Given the description of an element on the screen output the (x, y) to click on. 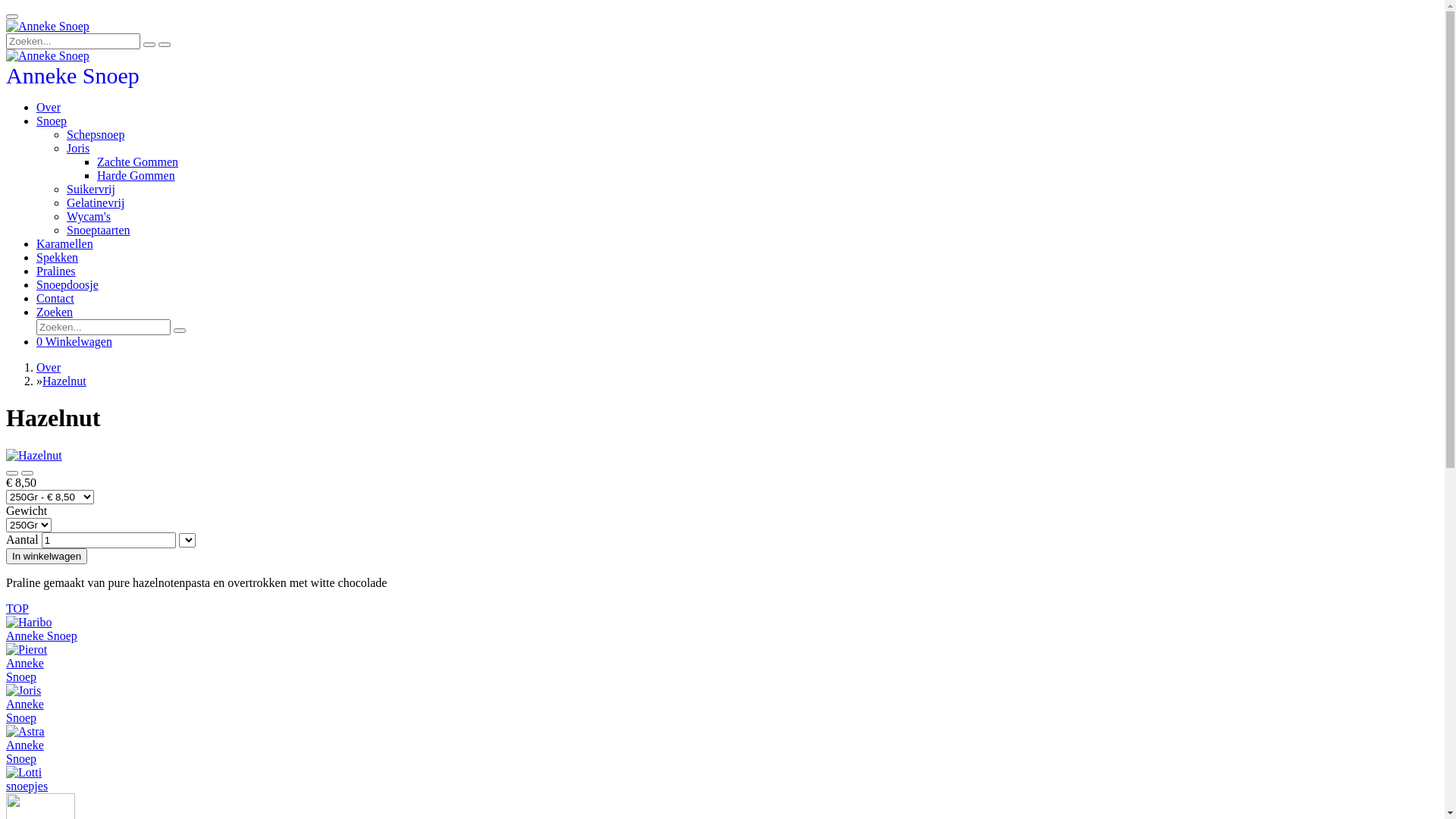
Anneke Snoep Element type: text (72, 78)
Spekken Element type: text (57, 257)
Wycam's Element type: text (88, 216)
Schepsnoep Element type: text (95, 134)
Suikervrij Element type: text (90, 188)
Anneke Snoep Element type: hover (47, 26)
Joris Element type: text (77, 147)
Gelatinevrij Element type: text (95, 202)
Zachte Gommen Element type: text (137, 161)
Harde Gommen Element type: text (136, 175)
TOP Element type: text (17, 608)
Over Element type: text (48, 106)
Pralines Element type: text (55, 270)
Snoepdoosje Element type: text (67, 284)
In winkelwagen Element type: text (46, 556)
Over Element type: text (48, 366)
Snoeptaarten Element type: text (98, 229)
Zoeken Element type: text (54, 311)
Snoep Element type: text (51, 120)
Karamellen Element type: text (64, 243)
Hazelnut Element type: text (64, 380)
0 Winkelwagen Element type: text (74, 341)
Contact Element type: text (55, 297)
Anneke Snoep Element type: hover (47, 55)
